Given the description of an element on the screen output the (x, y) to click on. 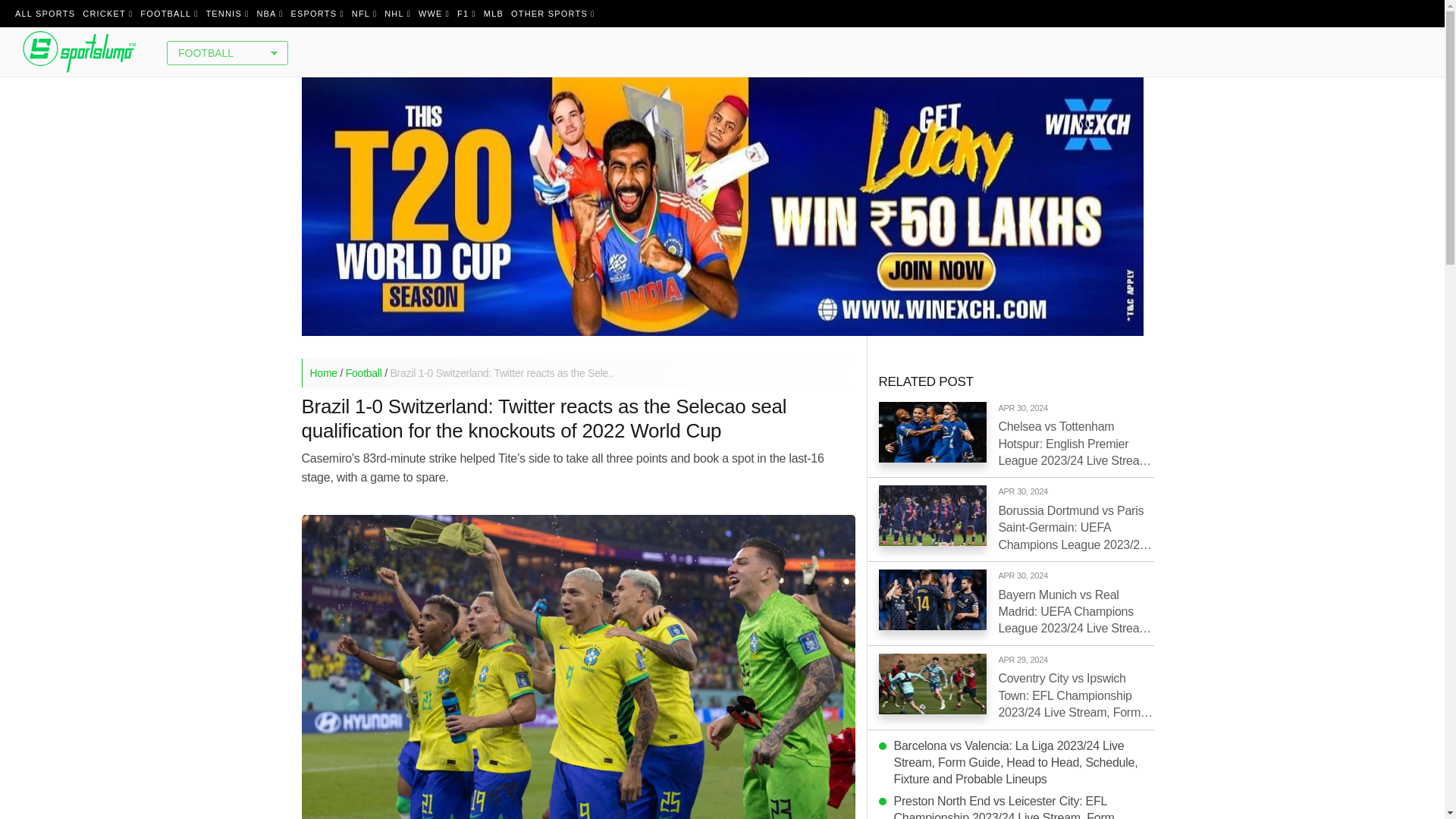
CRICKET (107, 13)
ALL SPORTS (44, 13)
FOOTBALL (169, 13)
TENNIS (226, 13)
